Given the description of an element on the screen output the (x, y) to click on. 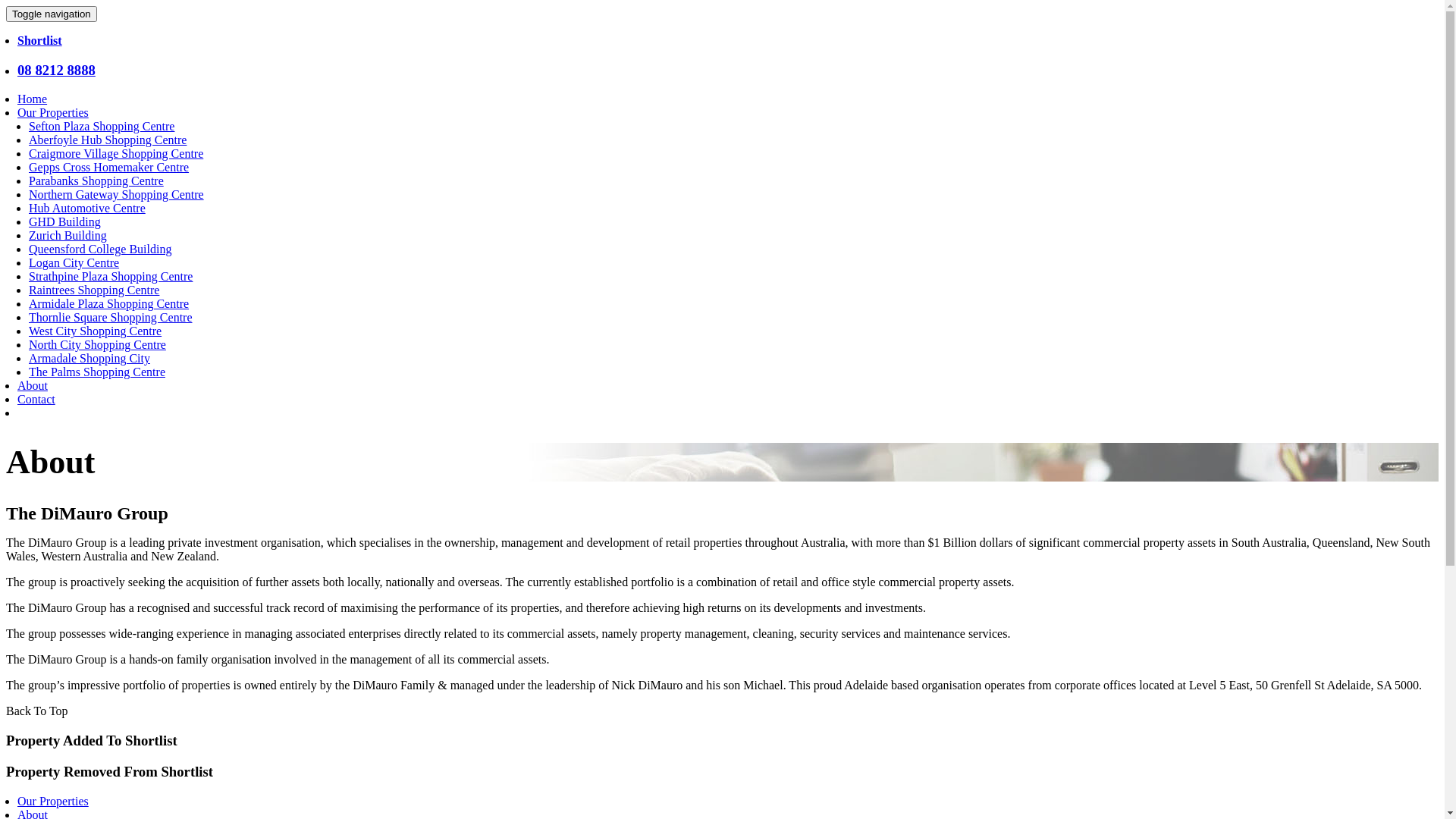
08 8212 8888 Element type: text (56, 70)
Parabanks Shopping Centre Element type: text (95, 180)
Armidale Plaza Shopping Centre Element type: text (108, 303)
Sefton Plaza Shopping Centre Element type: text (101, 125)
Aberfoyle Hub Shopping Centre Element type: text (107, 139)
Raintrees Shopping Centre Element type: text (93, 289)
Toggle navigation Element type: text (51, 13)
Craigmore Village Shopping Centre Element type: text (115, 153)
Back To Top Element type: text (37, 710)
Strathpine Plaza Shopping Centre Element type: text (110, 275)
Armadale Shopping City Element type: text (89, 357)
West City Shopping Centre Element type: text (94, 330)
Queensford College Building Element type: text (99, 248)
About Element type: text (32, 385)
Northern Gateway Shopping Centre Element type: text (115, 194)
Hub Automotive Centre Element type: text (86, 207)
Home Element type: text (32, 98)
Zurich Building Element type: text (67, 235)
Our Properties Element type: text (52, 800)
Contact Element type: text (36, 398)
Shortlist Element type: text (39, 40)
Thornlie Square Shopping Centre Element type: text (110, 316)
Gepps Cross Homemaker Centre Element type: text (108, 166)
GHD Building Element type: text (64, 221)
Logan City Centre Element type: text (73, 262)
North City Shopping Centre Element type: text (97, 344)
Our Properties Element type: text (52, 112)
The Palms Shopping Centre Element type: text (96, 371)
